Given the description of an element on the screen output the (x, y) to click on. 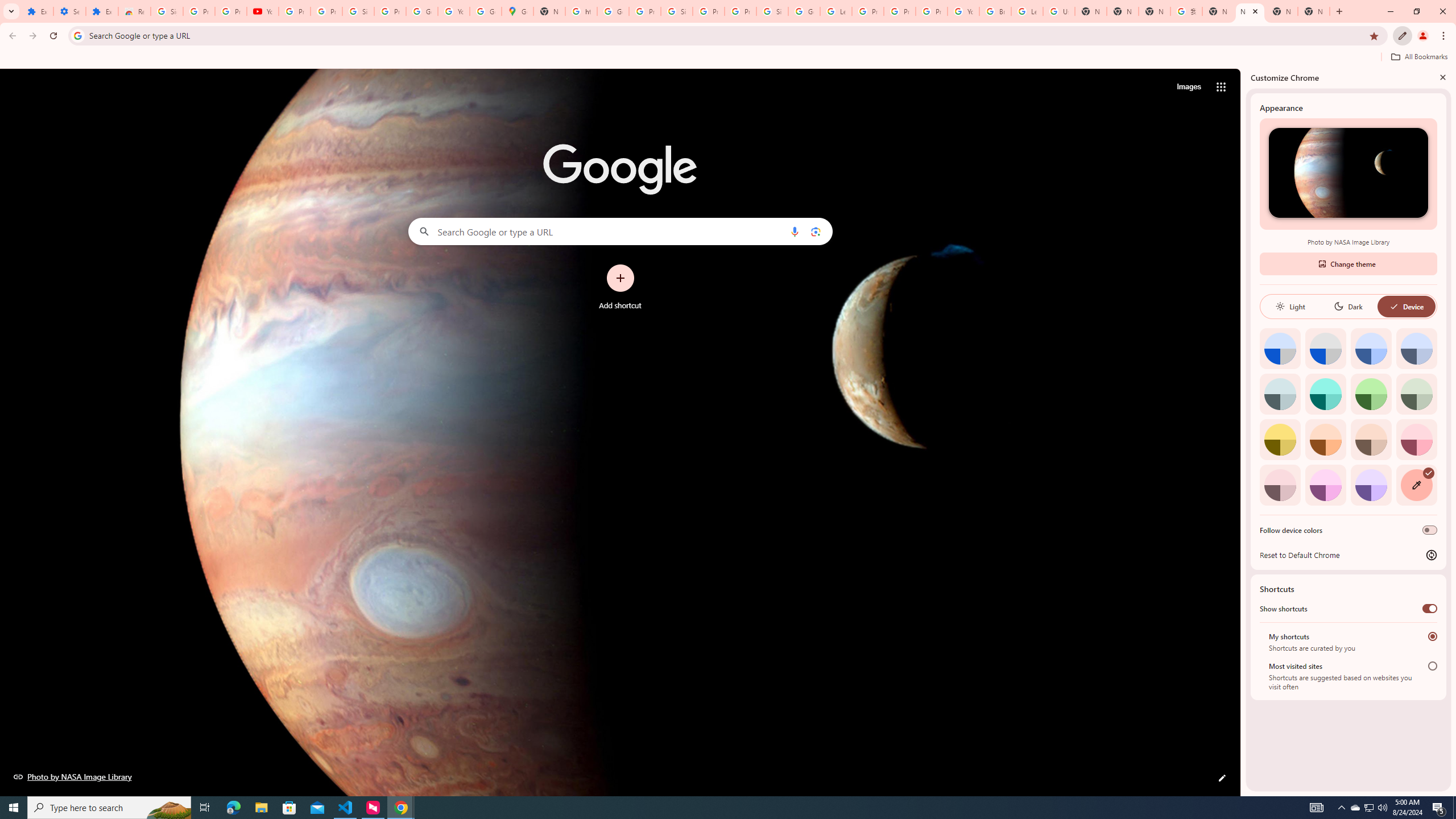
Extensions (37, 11)
Cool grey (1416, 348)
Reviews: Helix Fruit Jump Arcade Game (134, 11)
Google Account (421, 11)
Follow device colors (1429, 529)
Light (1289, 305)
Sign in - Google Accounts (772, 11)
Most visited sites (1432, 665)
